Given the description of an element on the screen output the (x, y) to click on. 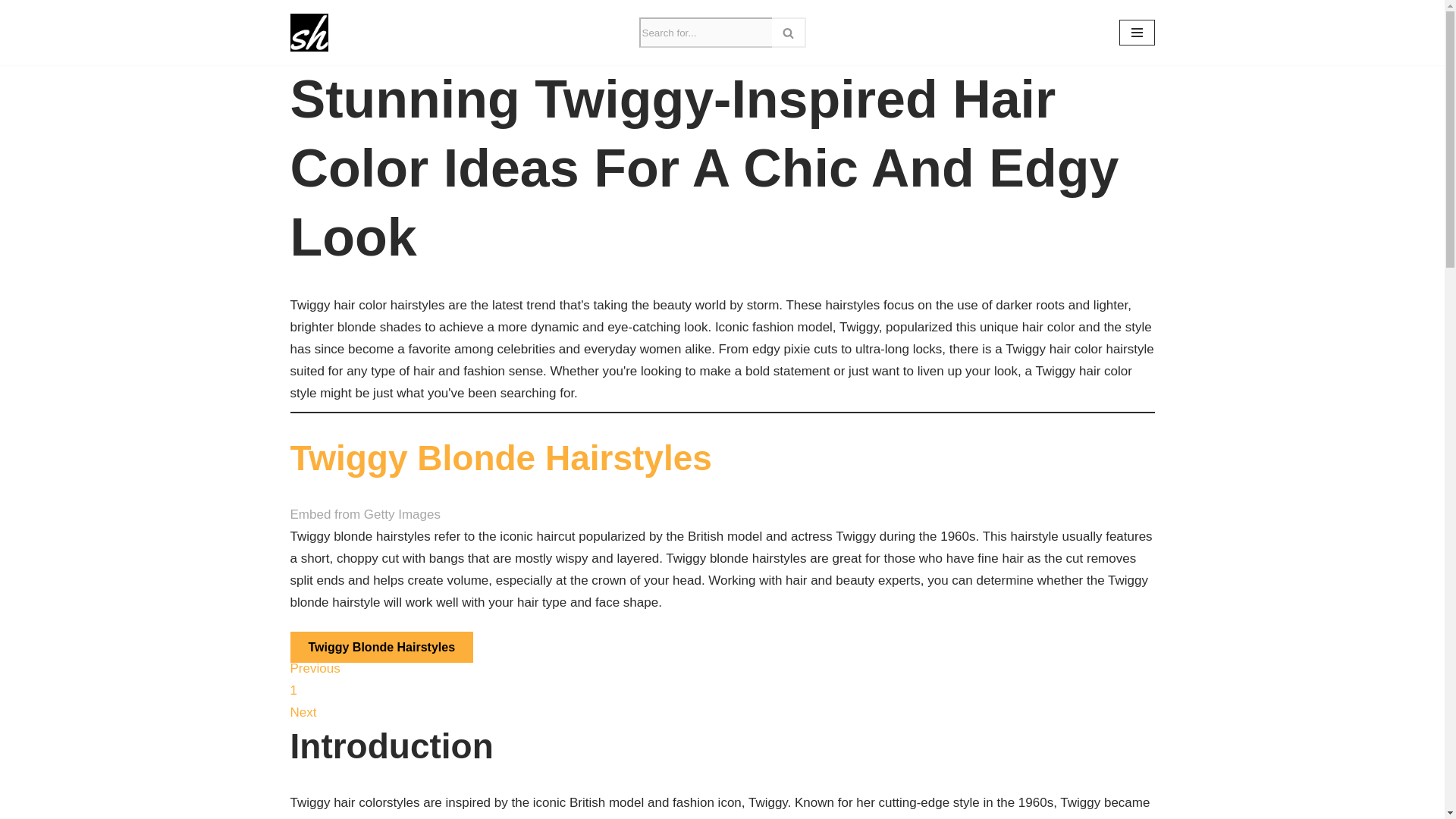
Twiggy Blonde Hairstyles (381, 646)
Navigation Menu (1136, 32)
Skip to content (11, 31)
Twiggy Blonde Hairstyles (500, 457)
Previous (314, 667)
Embed from Getty Images (364, 515)
Next (302, 712)
